Given the description of an element on the screen output the (x, y) to click on. 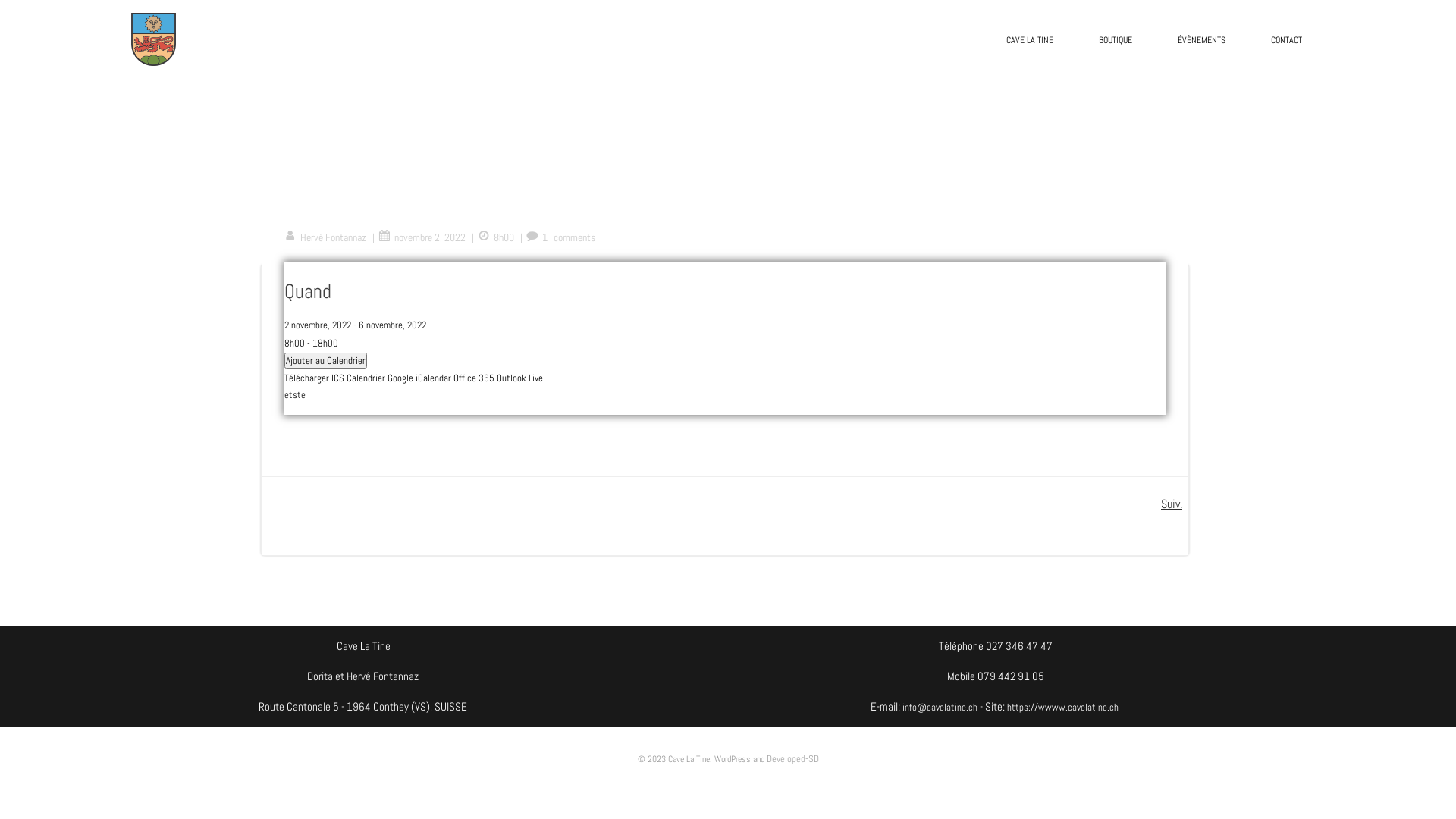
CAVE LA TINE Element type: text (1029, 40)
8h00 Element type: text (495, 237)
Outlook Live Element type: text (519, 377)
info@cavelatine.ch Element type: text (939, 706)
Suiv. Element type: text (1171, 504)
Calendrier Google Element type: text (379, 377)
iCalendar Element type: text (433, 377)
CONTACT Element type: text (1286, 40)
https://wwww.cavelatine.ch  Element type: text (1063, 706)
Ajouter au Calendrier Element type: text (325, 360)
Developed-SD Element type: text (791, 758)
CHF 0.00 Element type: text (732, 100)
novembre 2, 2022 Element type: text (421, 237)
BOUTIQUE Element type: text (1115, 40)
1 Element type: text (536, 237)
Office 365 Element type: text (473, 377)
